Given the description of an element on the screen output the (x, y) to click on. 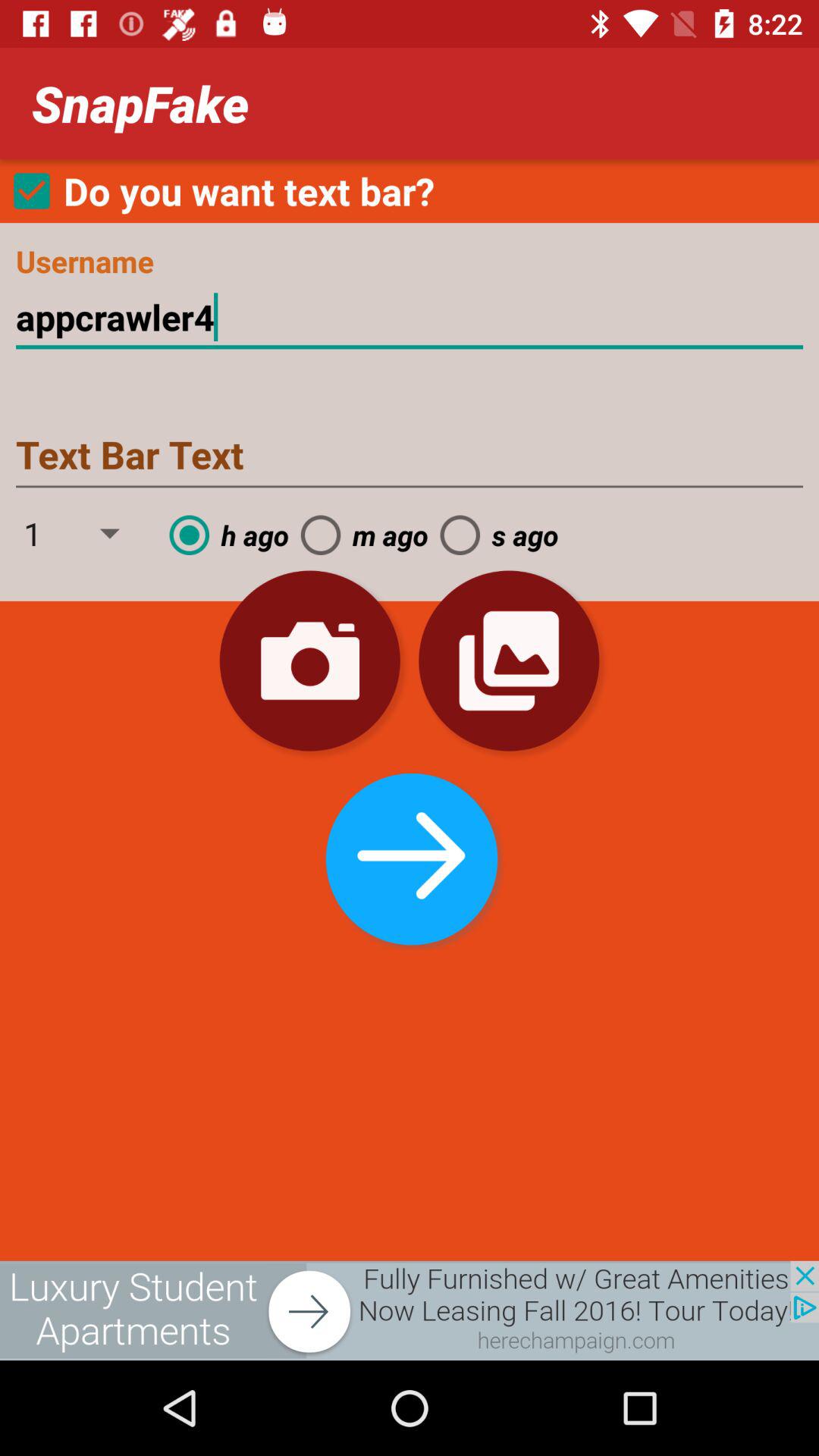
enter text bar text (409, 456)
